Given the description of an element on the screen output the (x, y) to click on. 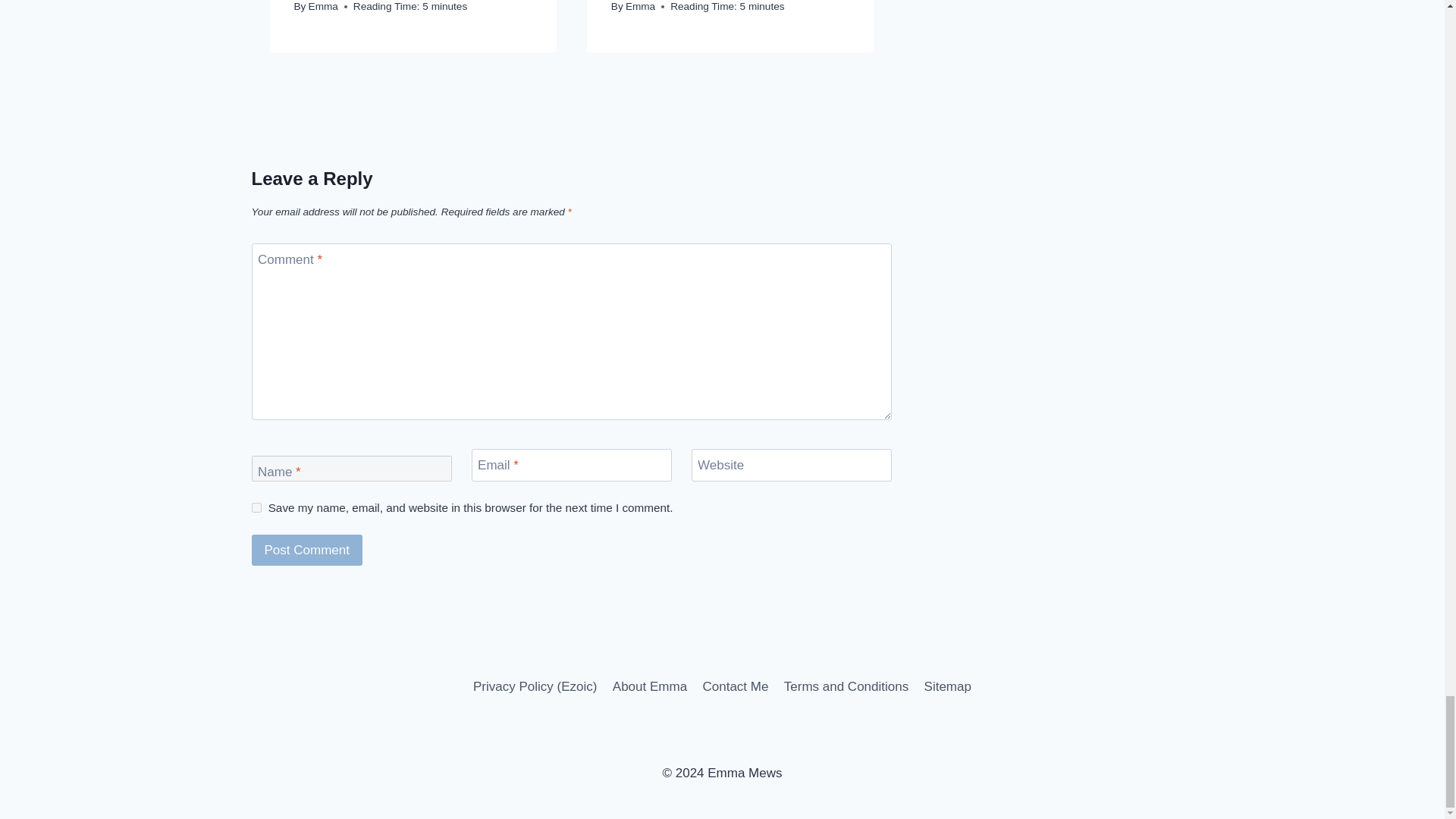
Post Comment (306, 549)
yes (256, 507)
